Given the description of an element on the screen output the (x, y) to click on. 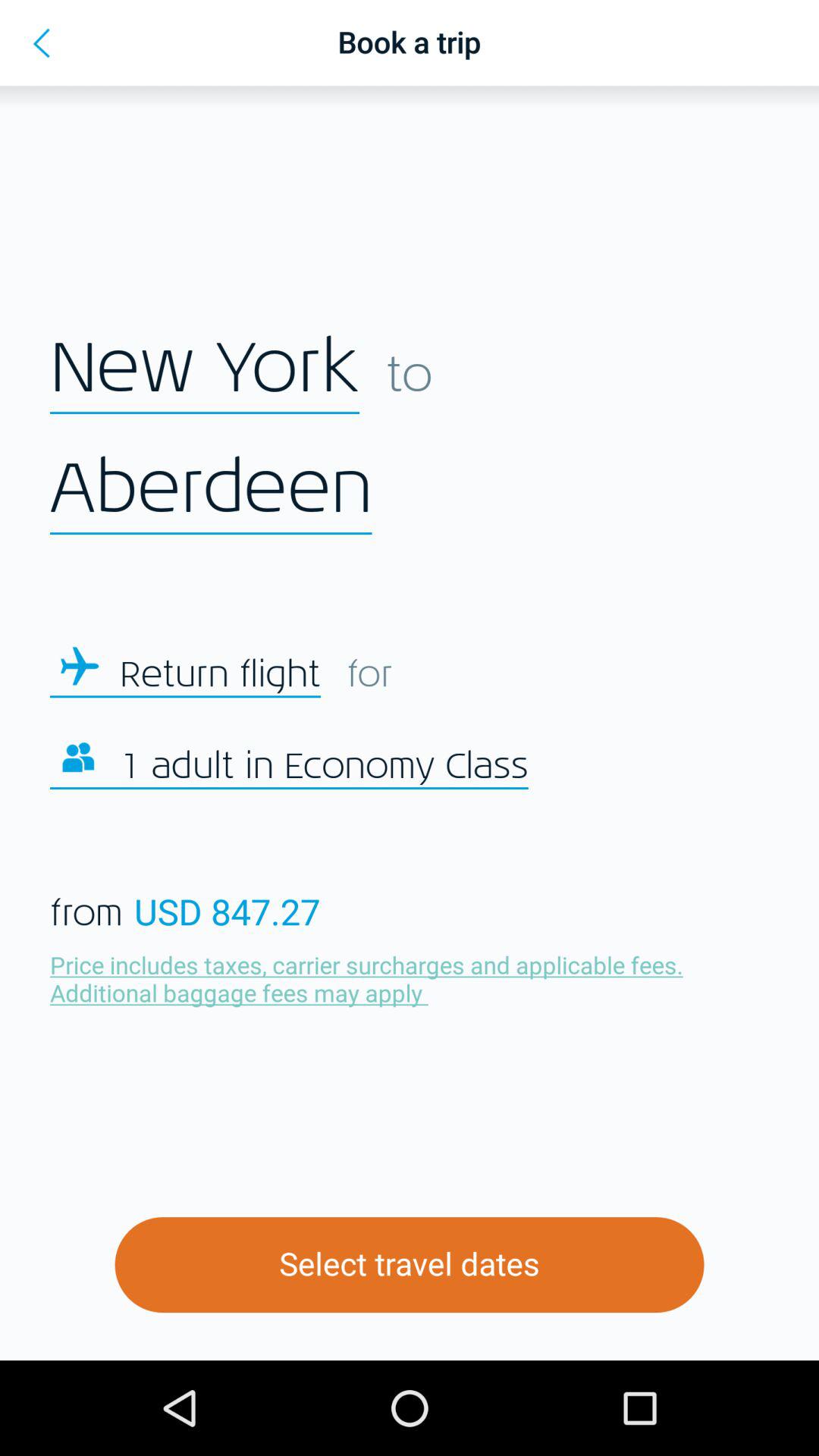
scroll until the return flight (220, 674)
